Given the description of an element on the screen output the (x, y) to click on. 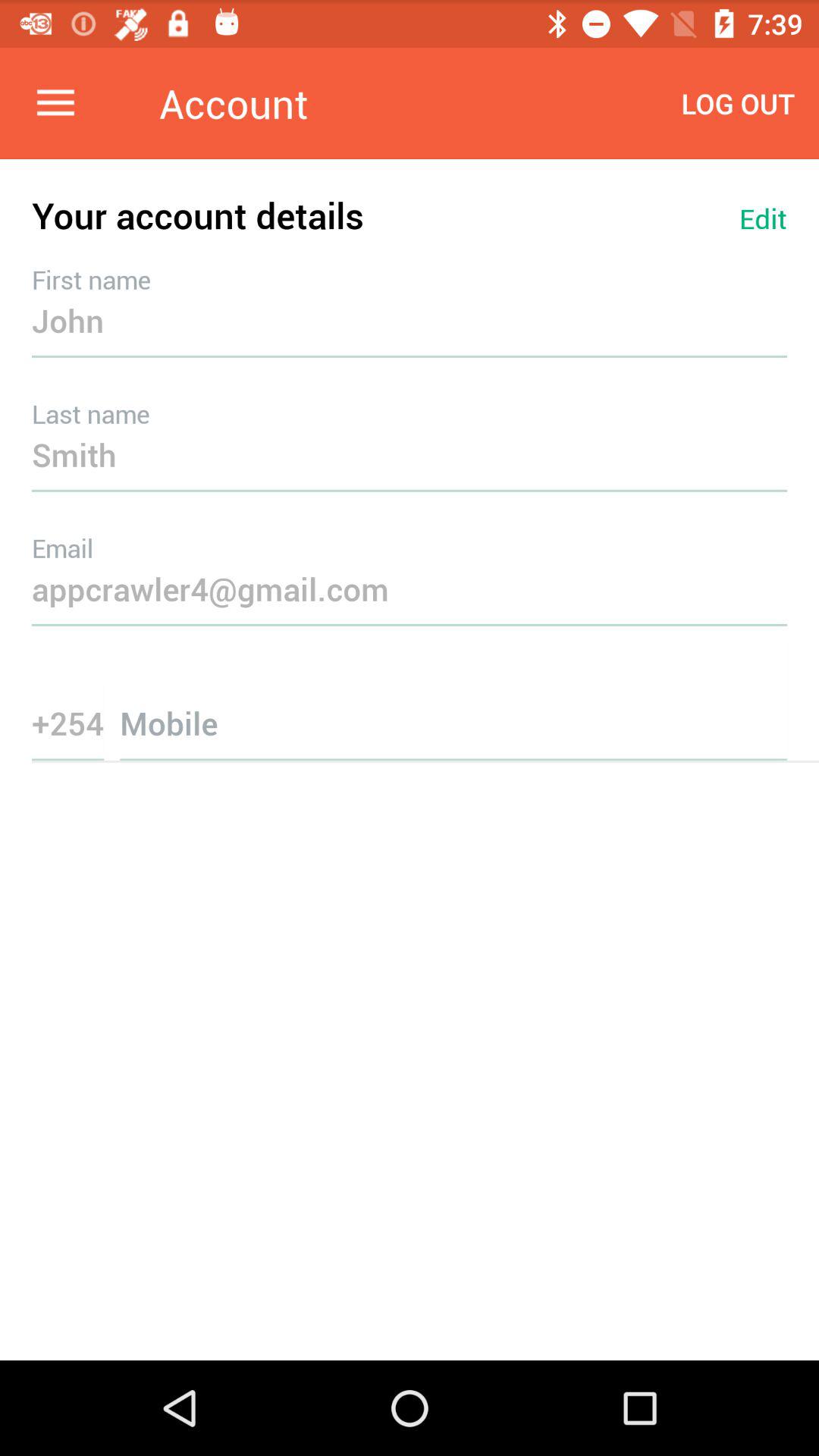
swipe until edit item (763, 218)
